Given the description of an element on the screen output the (x, y) to click on. 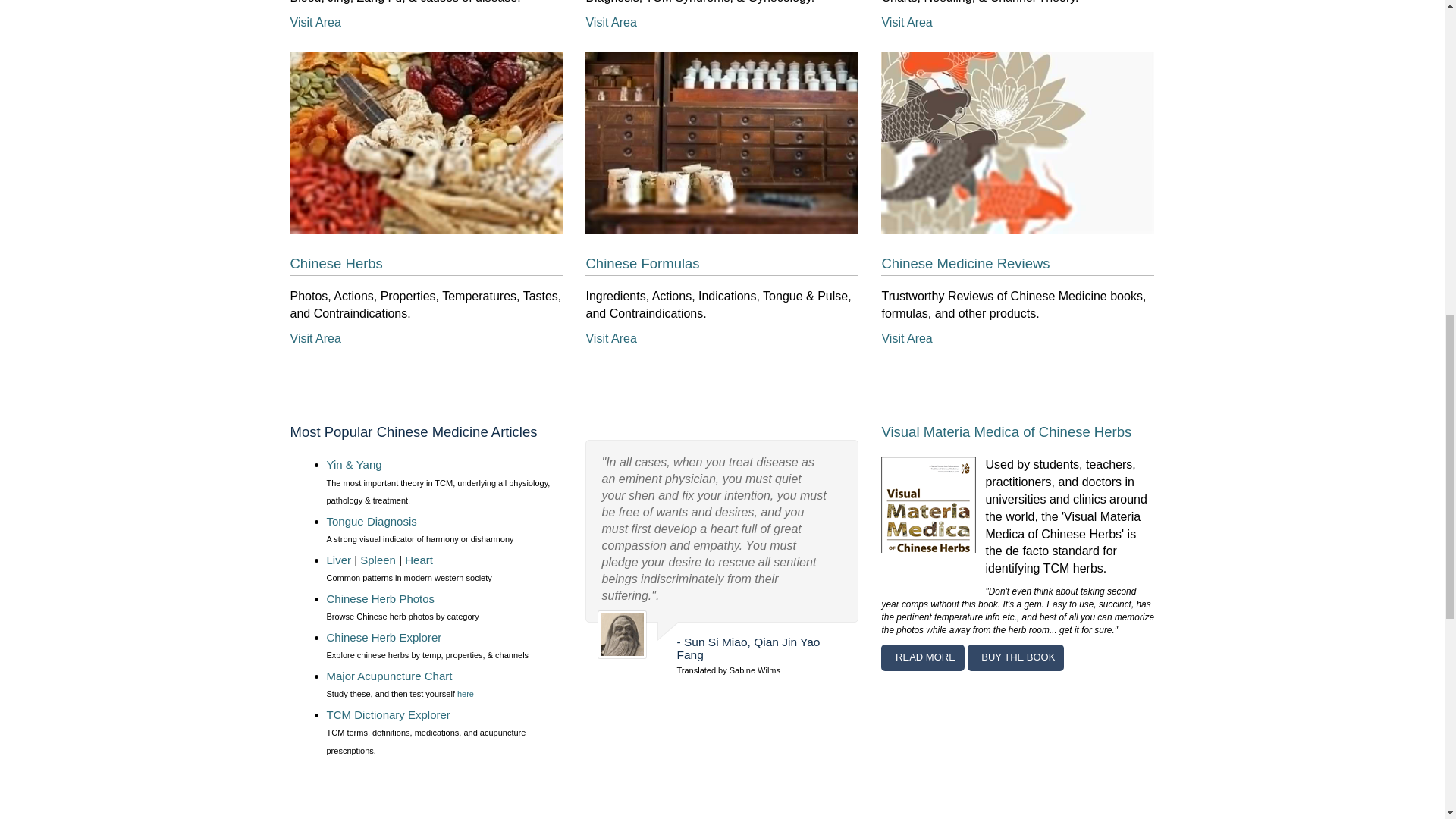
Chinese Formulas (722, 142)
Chinese Herbs (425, 142)
Chinese Formulas (641, 263)
Chinese medicine Reviews (964, 263)
Chinese medicine Reviews (1017, 142)
Chinese Herbs (335, 263)
